Given the description of an element on the screen output the (x, y) to click on. 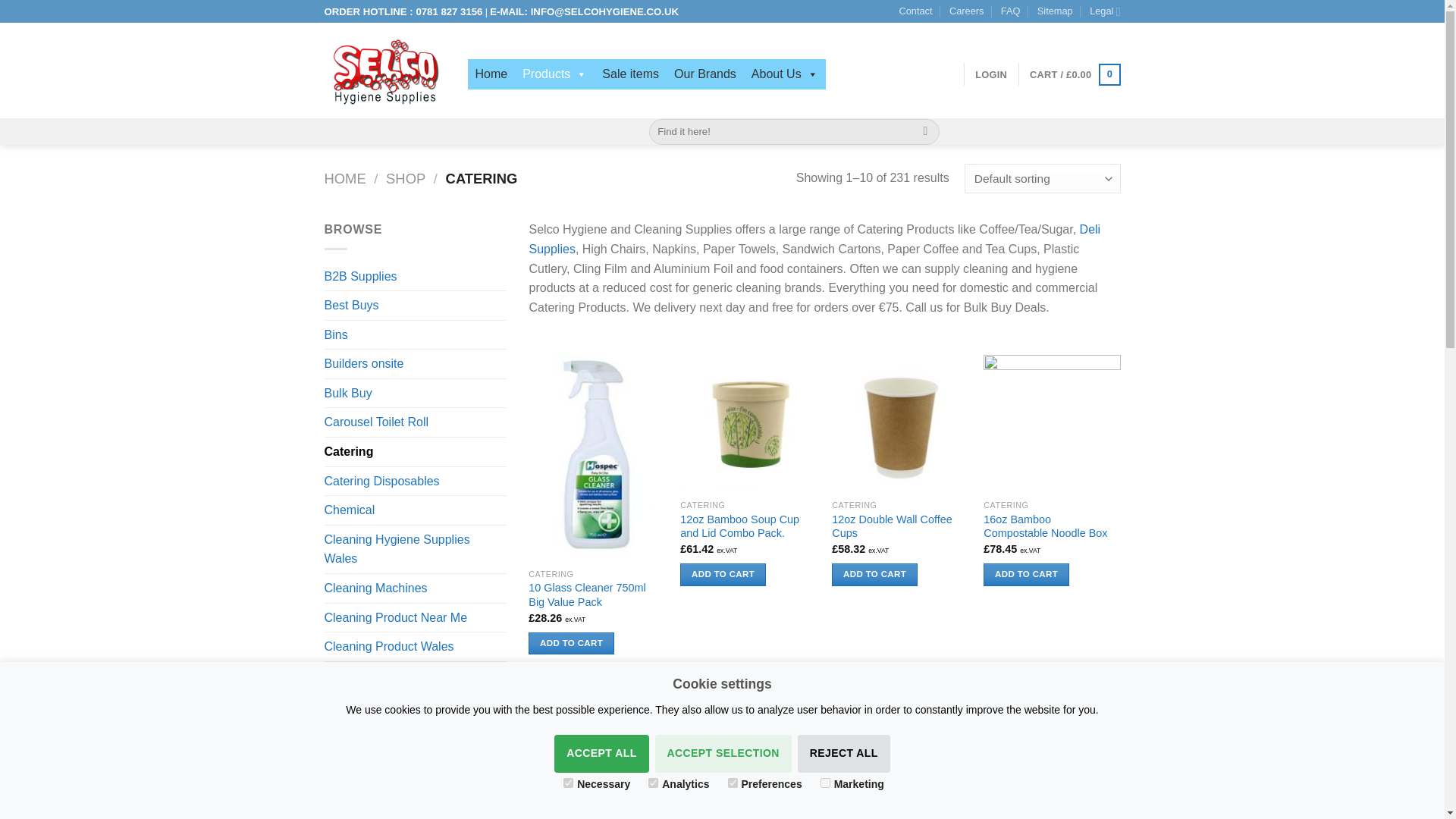
Marketing (825, 782)
Login (991, 74)
Analytics (652, 782)
Cart (1074, 75)
Legal (1104, 11)
Home (491, 73)
Preferences (733, 782)
Necessary (568, 782)
Contact (914, 11)
